Given the description of an element on the screen output the (x, y) to click on. 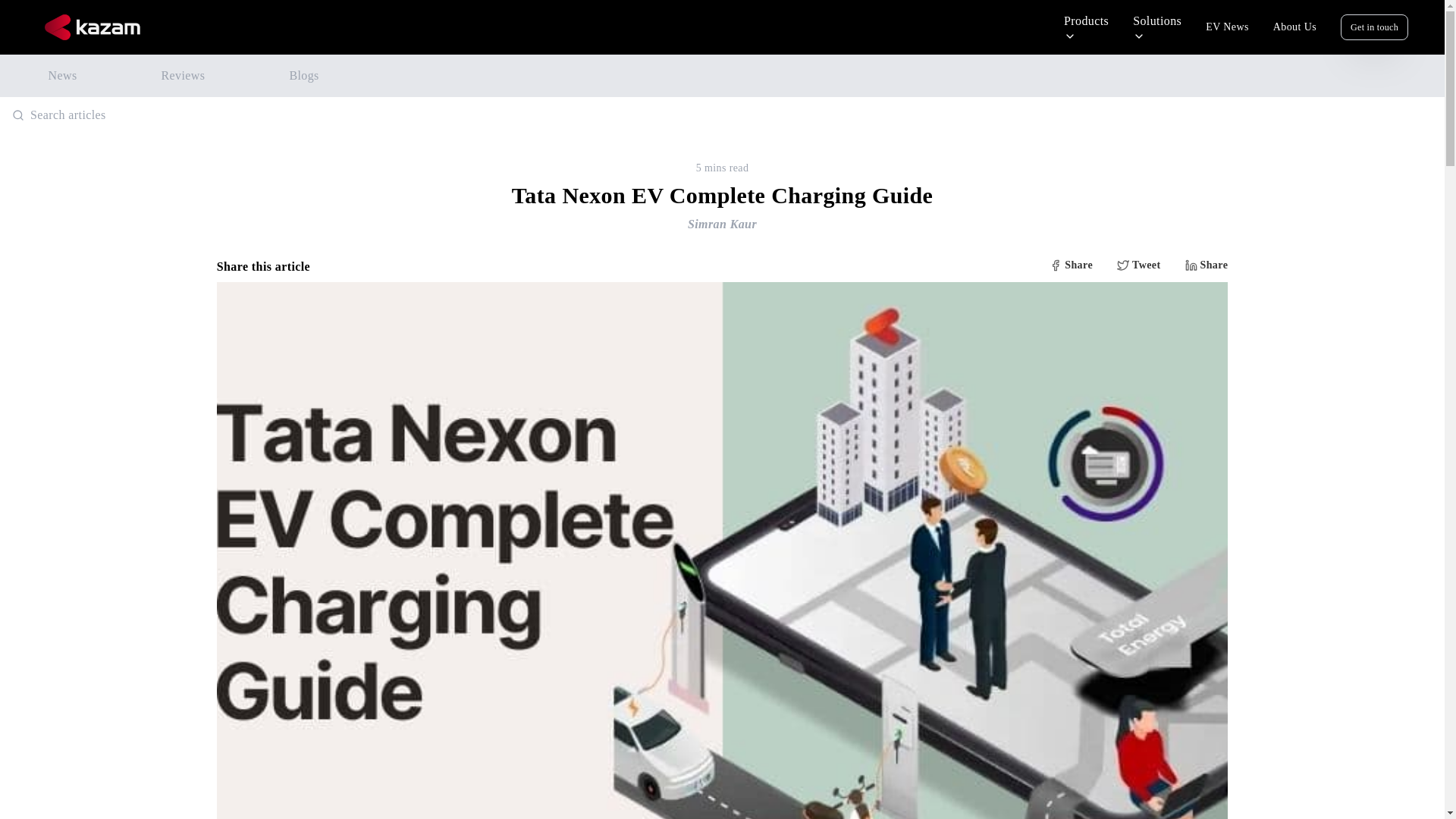
Share (1071, 266)
Share (1206, 266)
Tweet (1138, 266)
Get in touch (1373, 27)
